Given the description of an element on the screen output the (x, y) to click on. 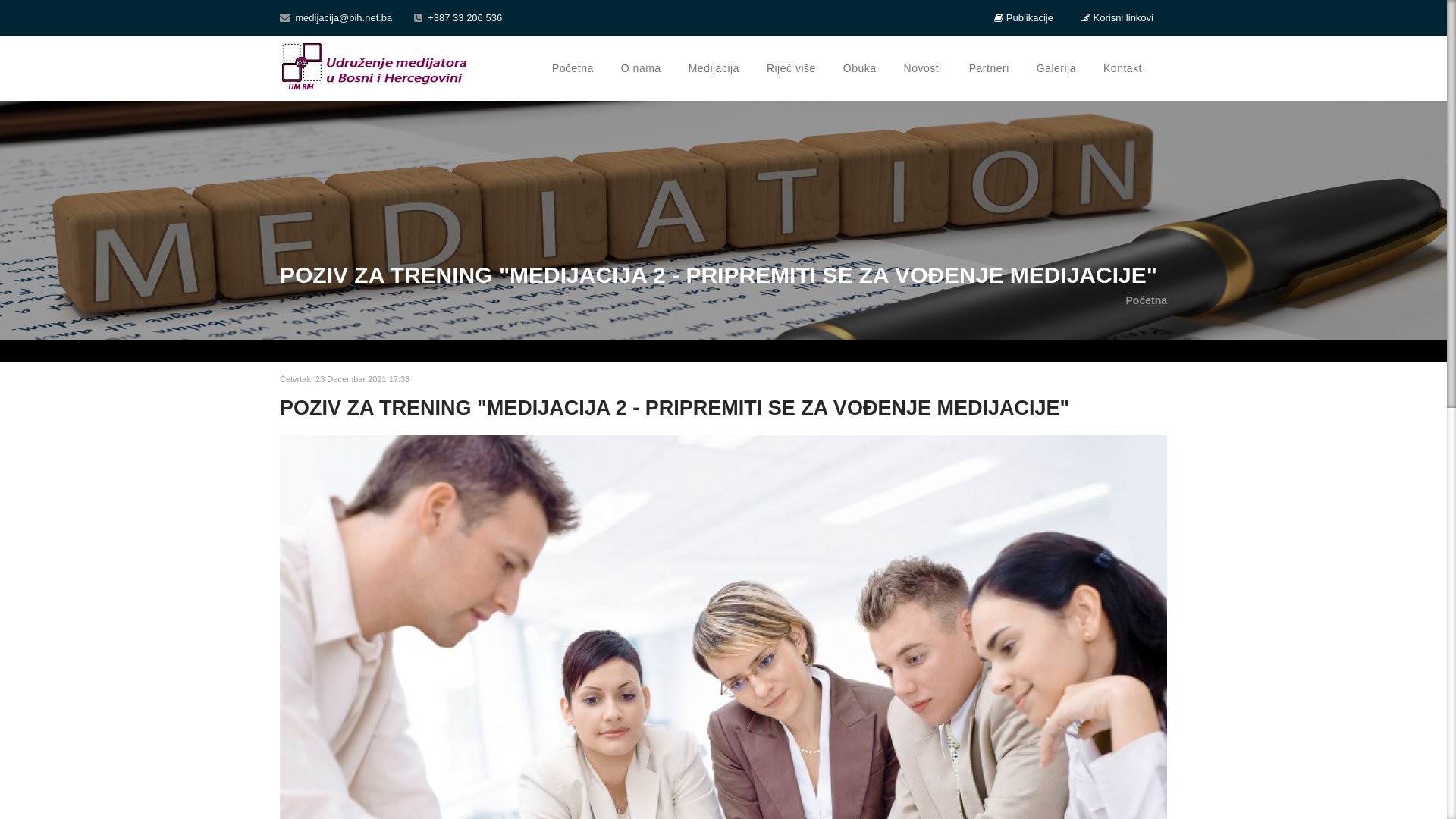
Publikacije Element type: text (1023, 17)
Novosti Element type: text (922, 68)
Medijacija Element type: text (713, 68)
Partneri Element type: text (988, 68)
Kontakt Element type: text (1122, 68)
O nama Element type: text (640, 68)
Galerija Element type: text (1055, 68)
  medijacija@bih.net.ba Element type: text (335, 17)
Korisni linkovi Element type: text (1116, 17)
Obuka Element type: text (859, 68)
